Given the description of an element on the screen output the (x, y) to click on. 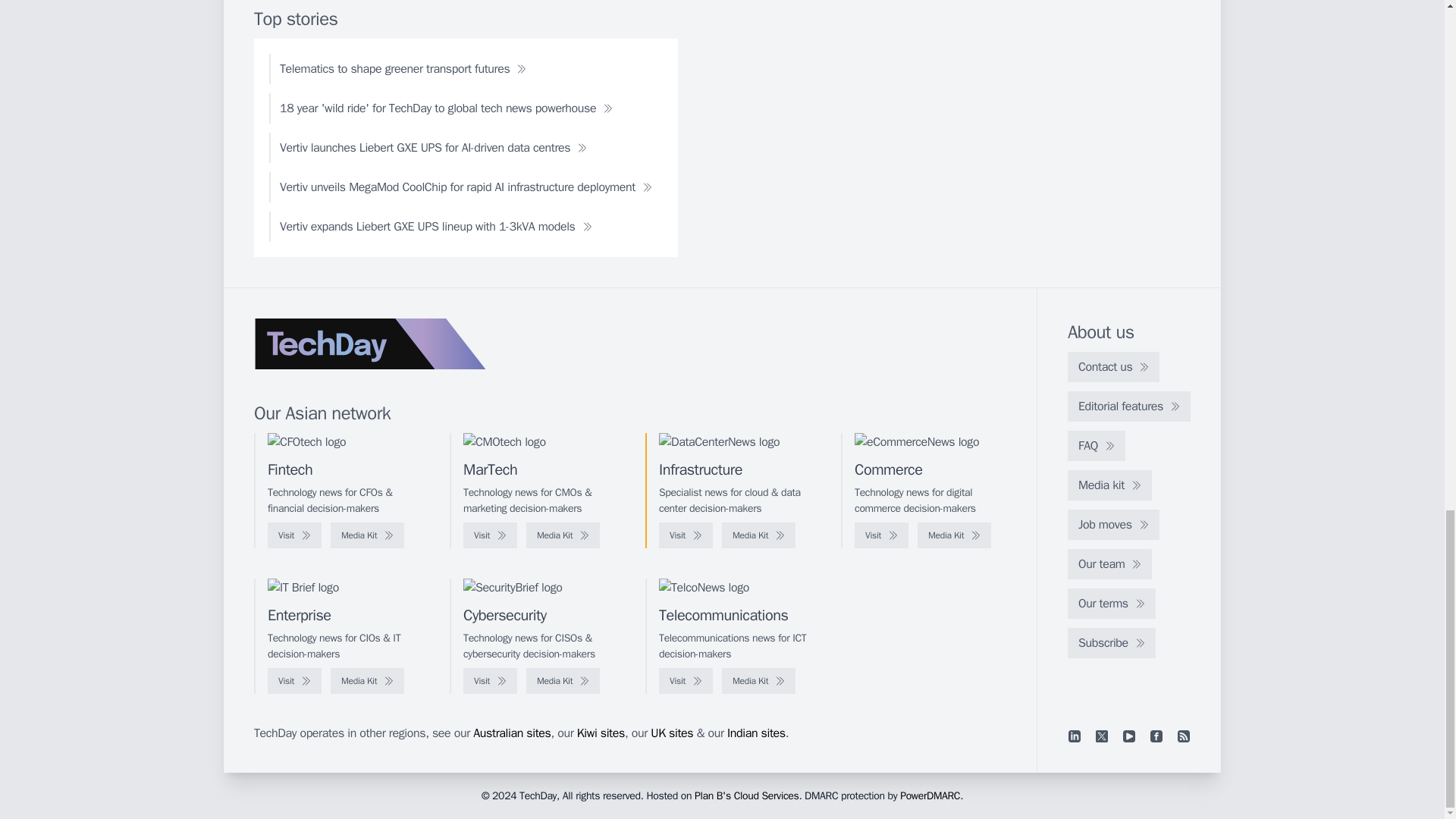
Visit (881, 534)
Visit (489, 534)
Visit (686, 534)
Visit (294, 534)
Telematics to shape greener transport futures (403, 69)
Media Kit (954, 534)
Media Kit (367, 534)
Vertiv expands Liebert GXE UPS lineup with 1-3kVA models (435, 226)
Media Kit (758, 534)
Vertiv launches Liebert GXE UPS for AI-driven data centres (432, 147)
Media Kit (562, 534)
